Given the description of an element on the screen output the (x, y) to click on. 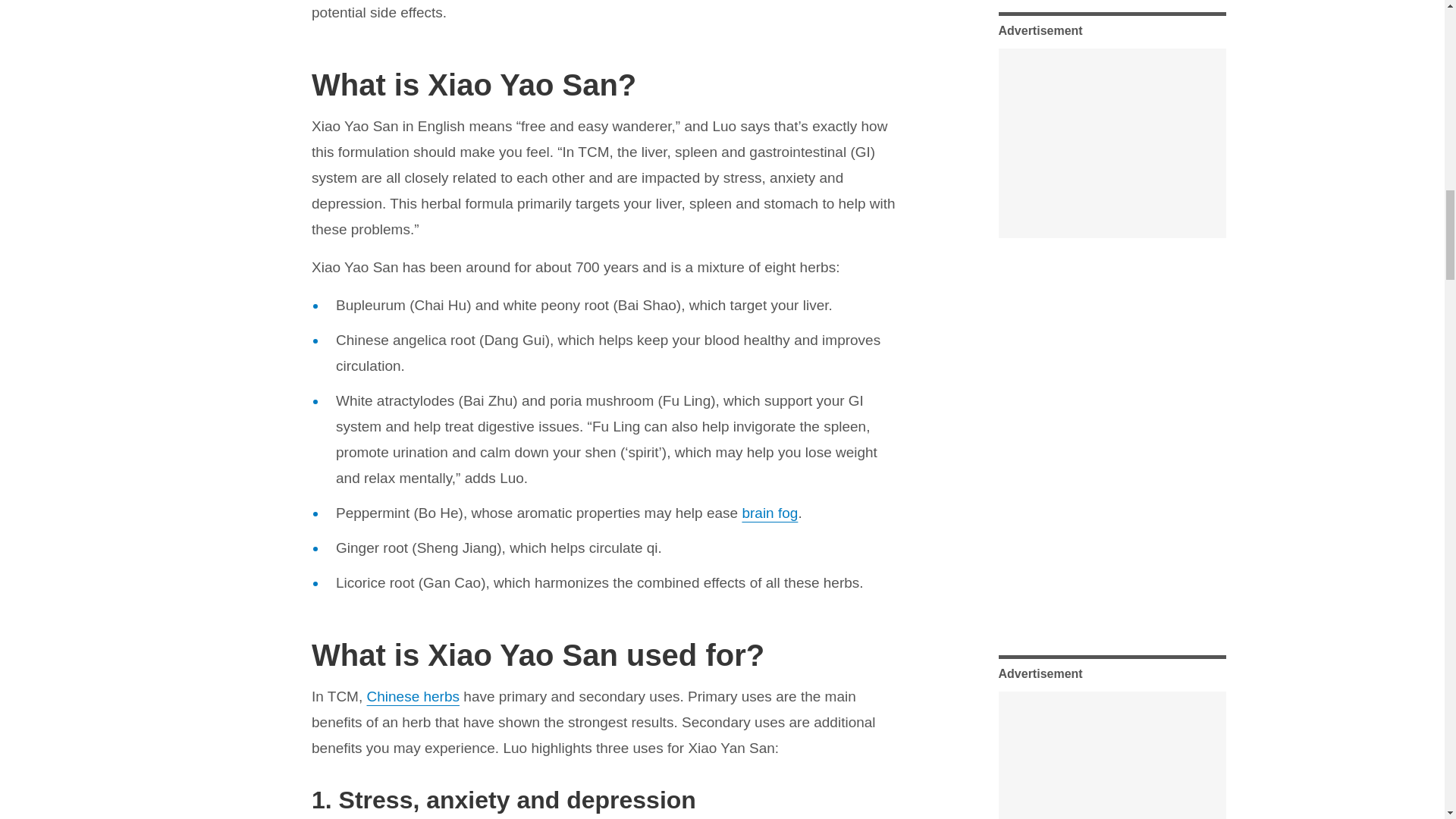
Chinese herbs (413, 696)
brain fog (769, 512)
